Given the description of an element on the screen output the (x, y) to click on. 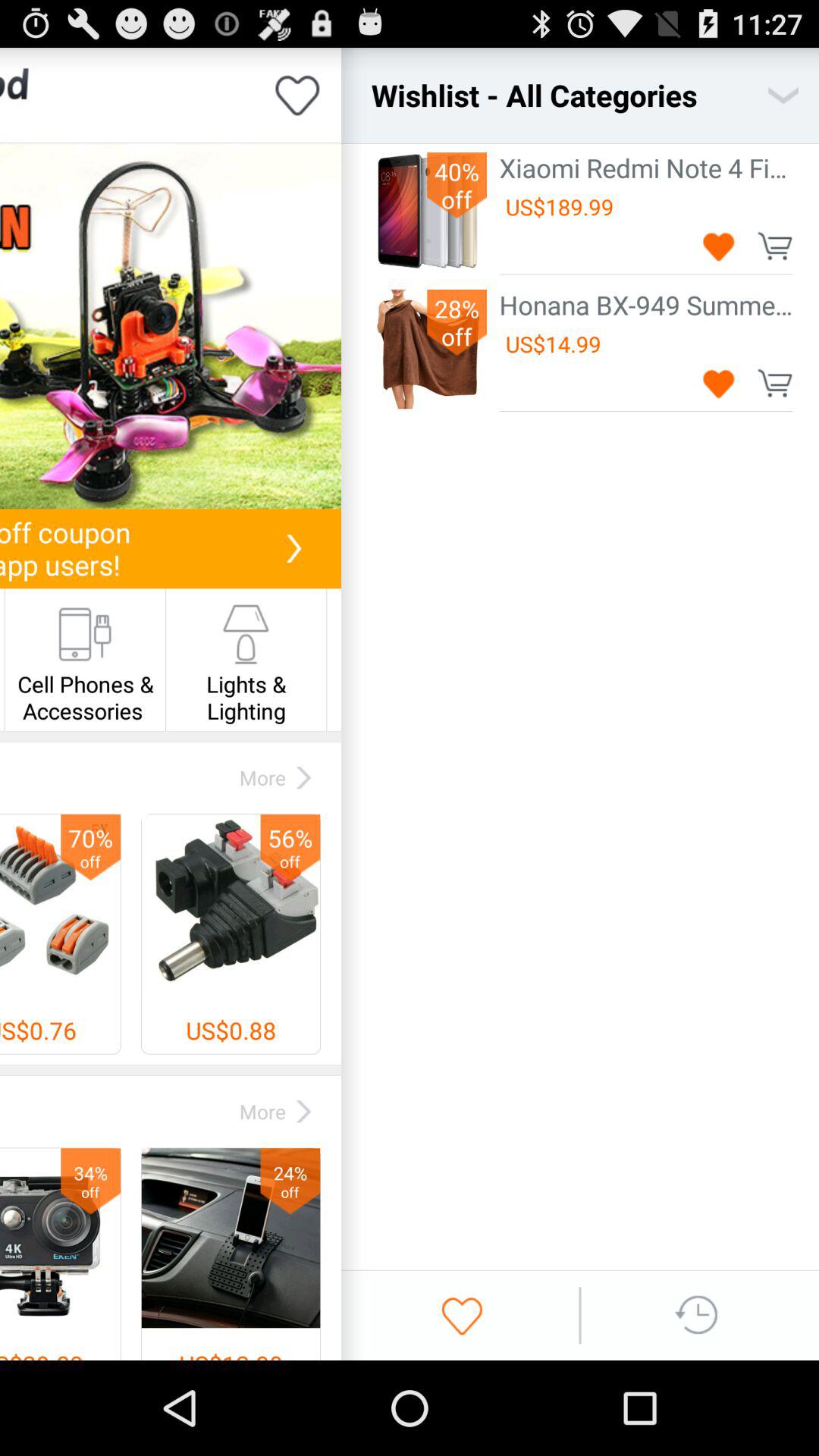
select on the second image (426, 349)
